Given the description of an element on the screen output the (x, y) to click on. 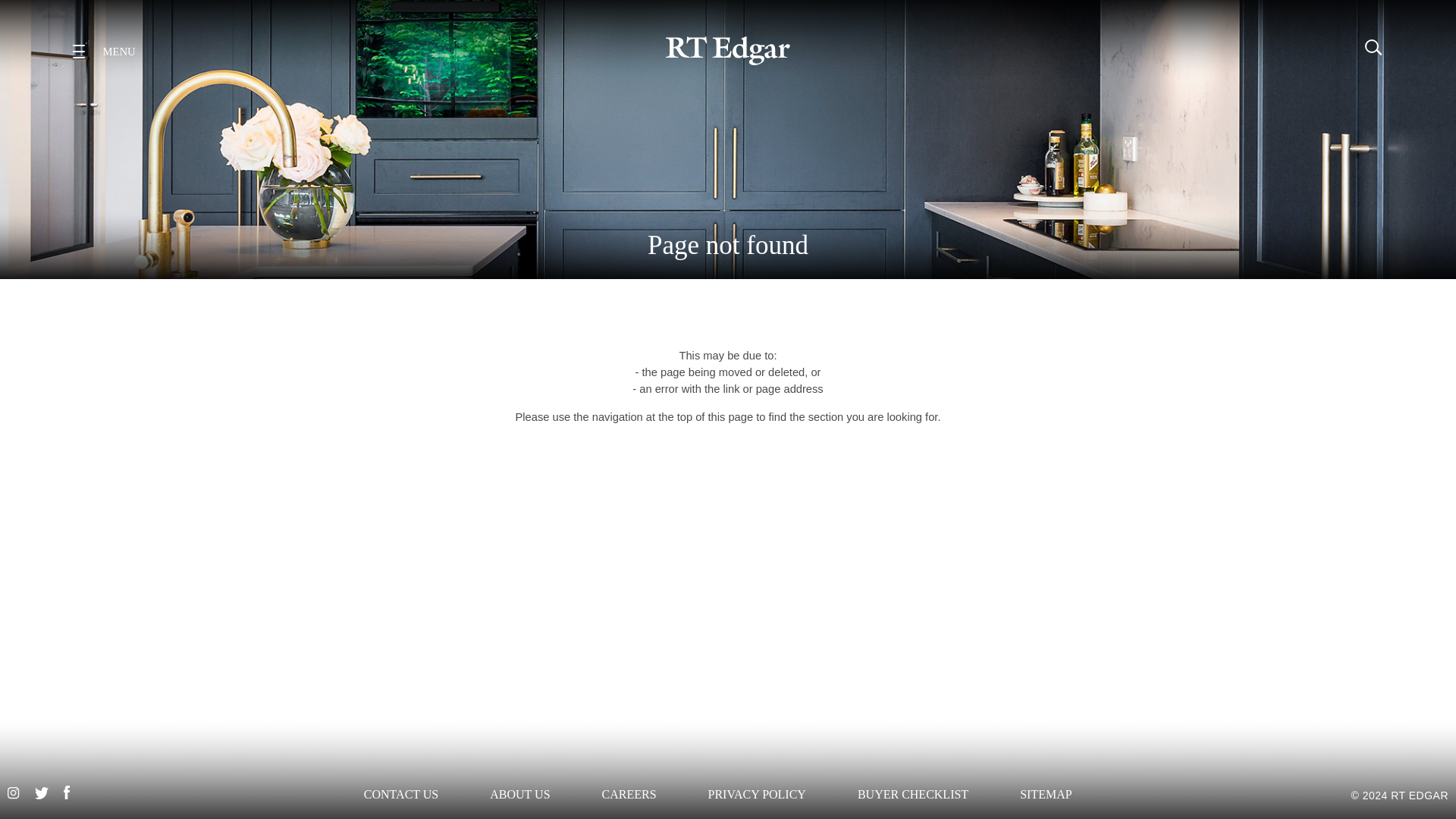
RT Edgar (727, 50)
MENU (106, 50)
